Given the description of an element on the screen output the (x, y) to click on. 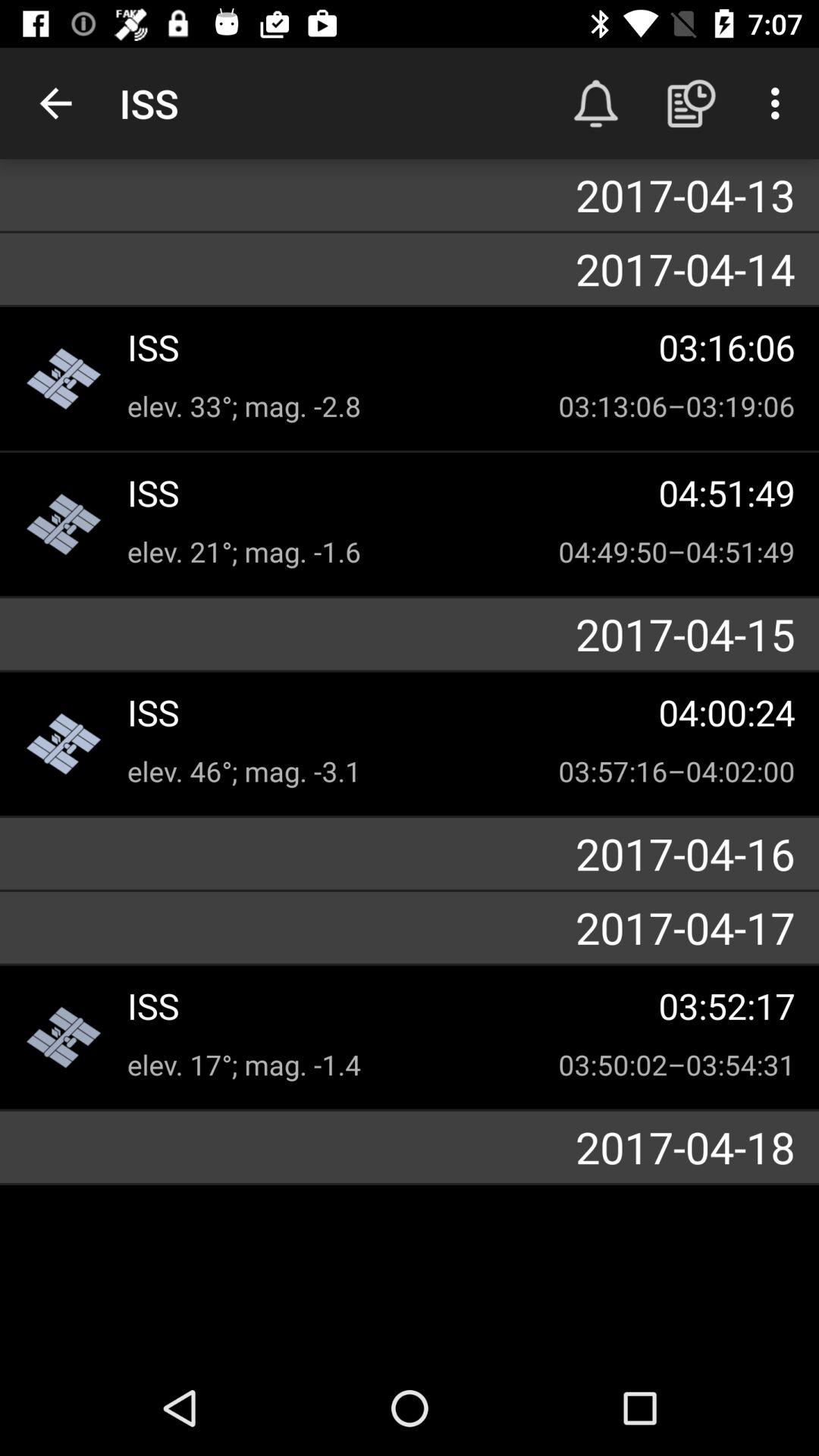
turn on icon next to iss icon (55, 103)
